Given the description of an element on the screen output the (x, y) to click on. 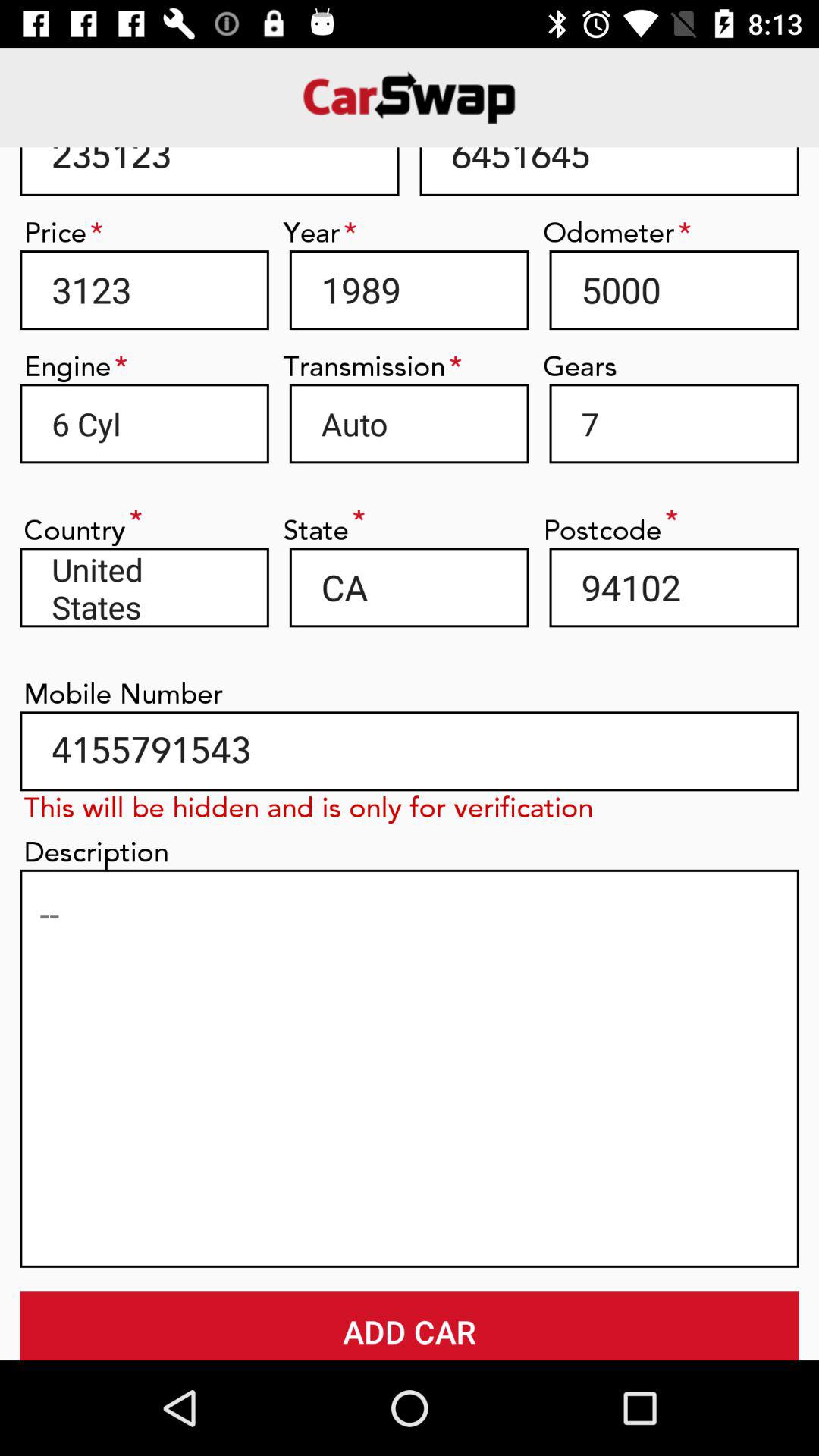
select the item next to ca item (674, 587)
